Given the description of an element on the screen output the (x, y) to click on. 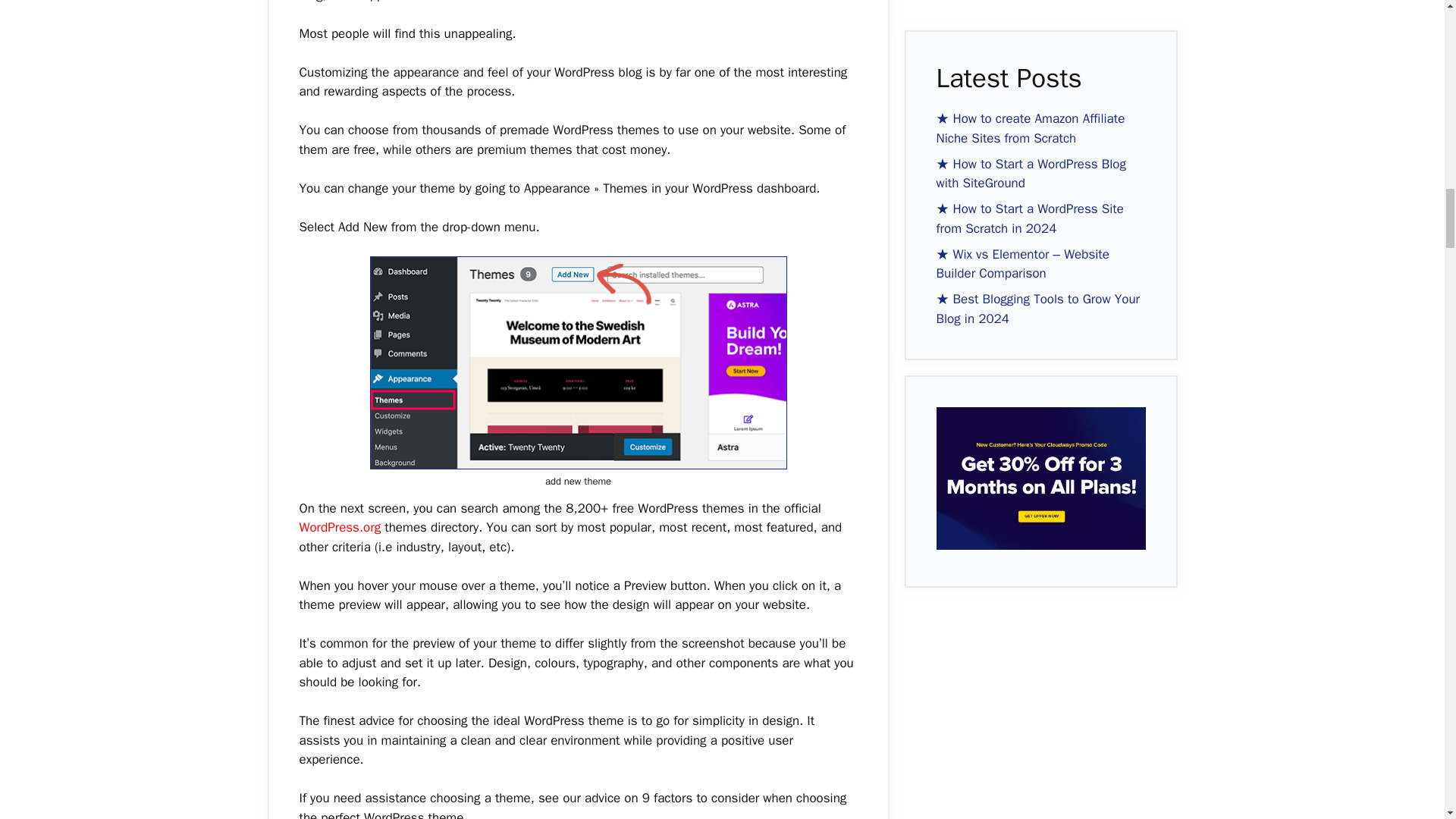
WordPress.org (339, 527)
